Given the description of an element on the screen output the (x, y) to click on. 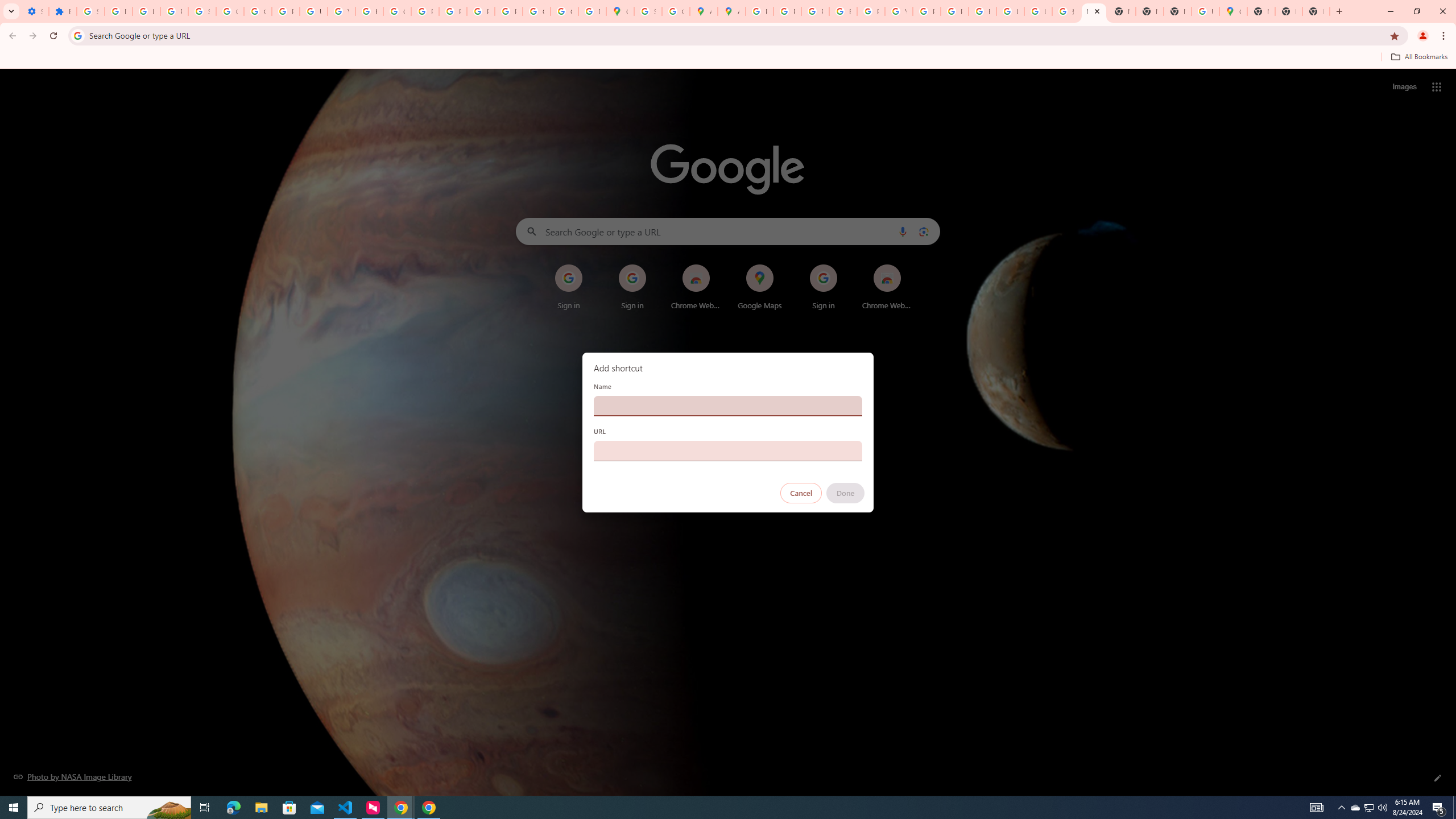
Privacy Help Center - Policies Help (425, 11)
https://scholar.google.com/ (369, 11)
New Tab (1316, 11)
Create your Google Account (675, 11)
Policy Accountability and Transparency - Transparency Center (759, 11)
